Given the description of an element on the screen output the (x, y) to click on. 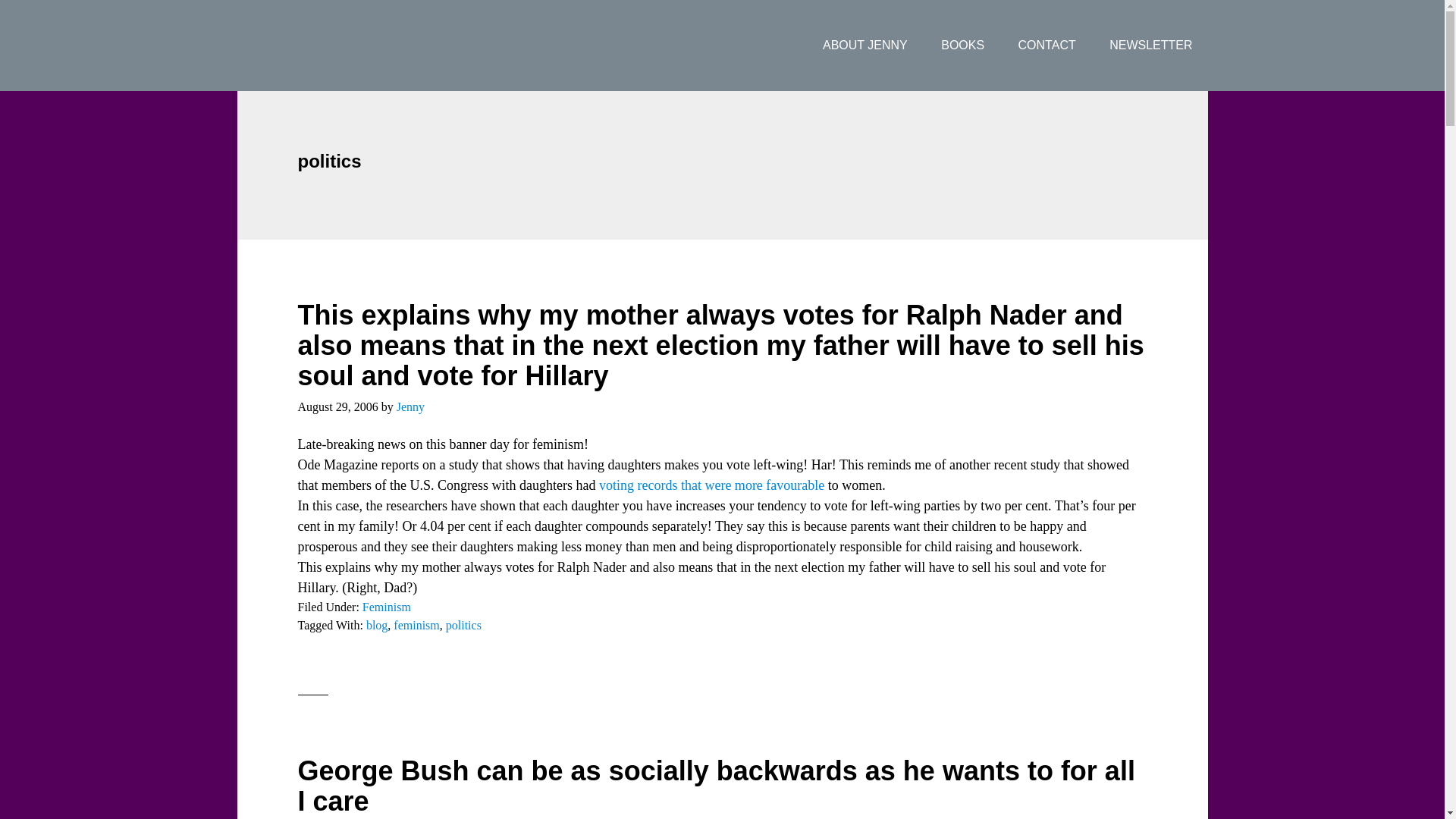
Jenny Holiday (357, 45)
blog (376, 625)
BOOKS (962, 45)
feminism (416, 625)
Jenny (410, 406)
Feminism (386, 606)
NEWSLETTER (1150, 45)
politics (463, 625)
voting records that were more favourable  (713, 485)
CONTACT (1046, 45)
ABOUT JENNY (865, 45)
